Given the description of an element on the screen output the (x, y) to click on. 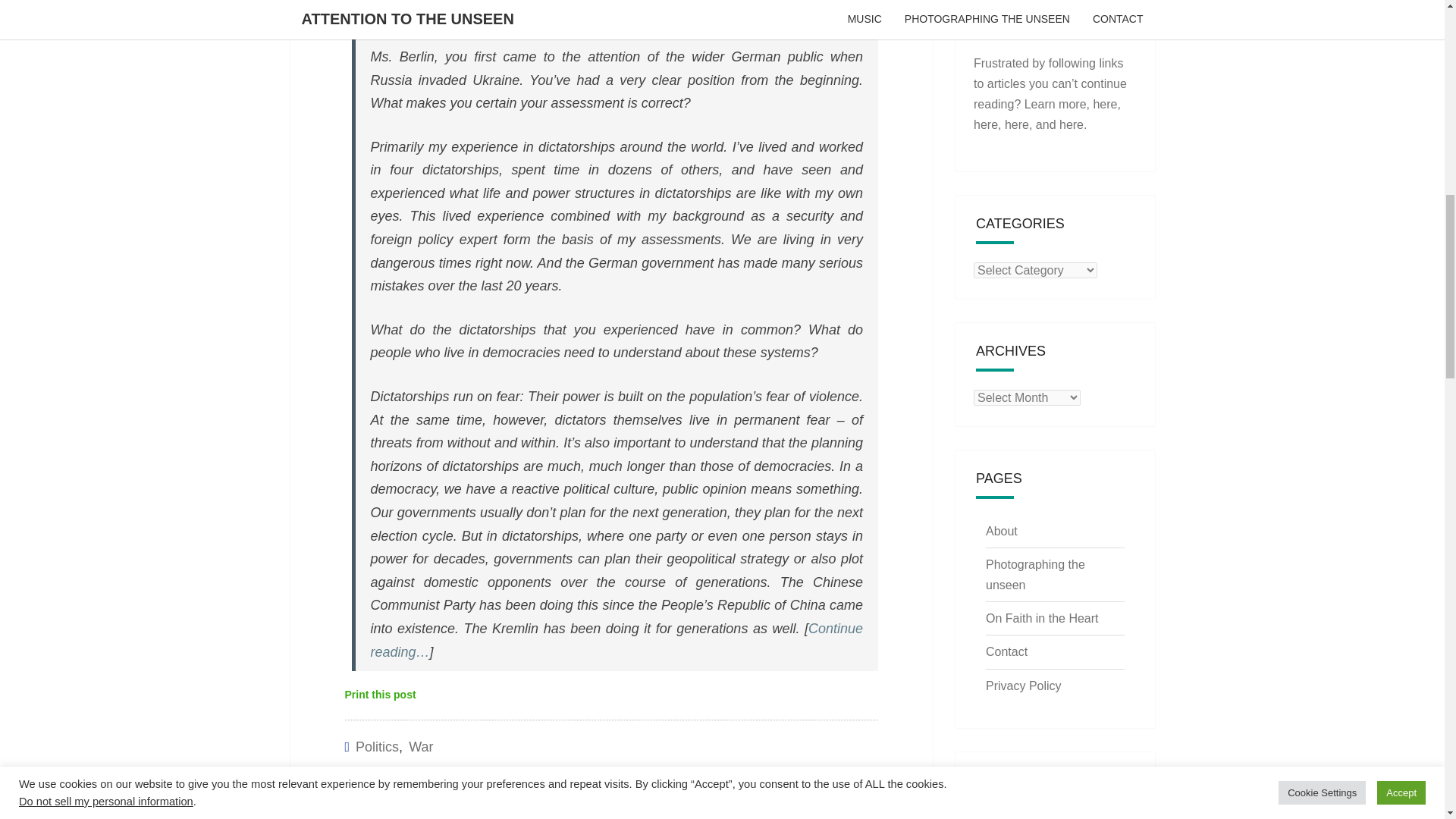
here (1104, 103)
here (1016, 124)
War (420, 746)
Photographing the unseen (1034, 574)
On Faith in the Heart (1042, 617)
Privacy Policy (1023, 685)
here (1071, 124)
Print this post (378, 695)
Contact (1006, 651)
here (985, 124)
Politics (376, 746)
About (1001, 530)
